Given the description of an element on the screen output the (x, y) to click on. 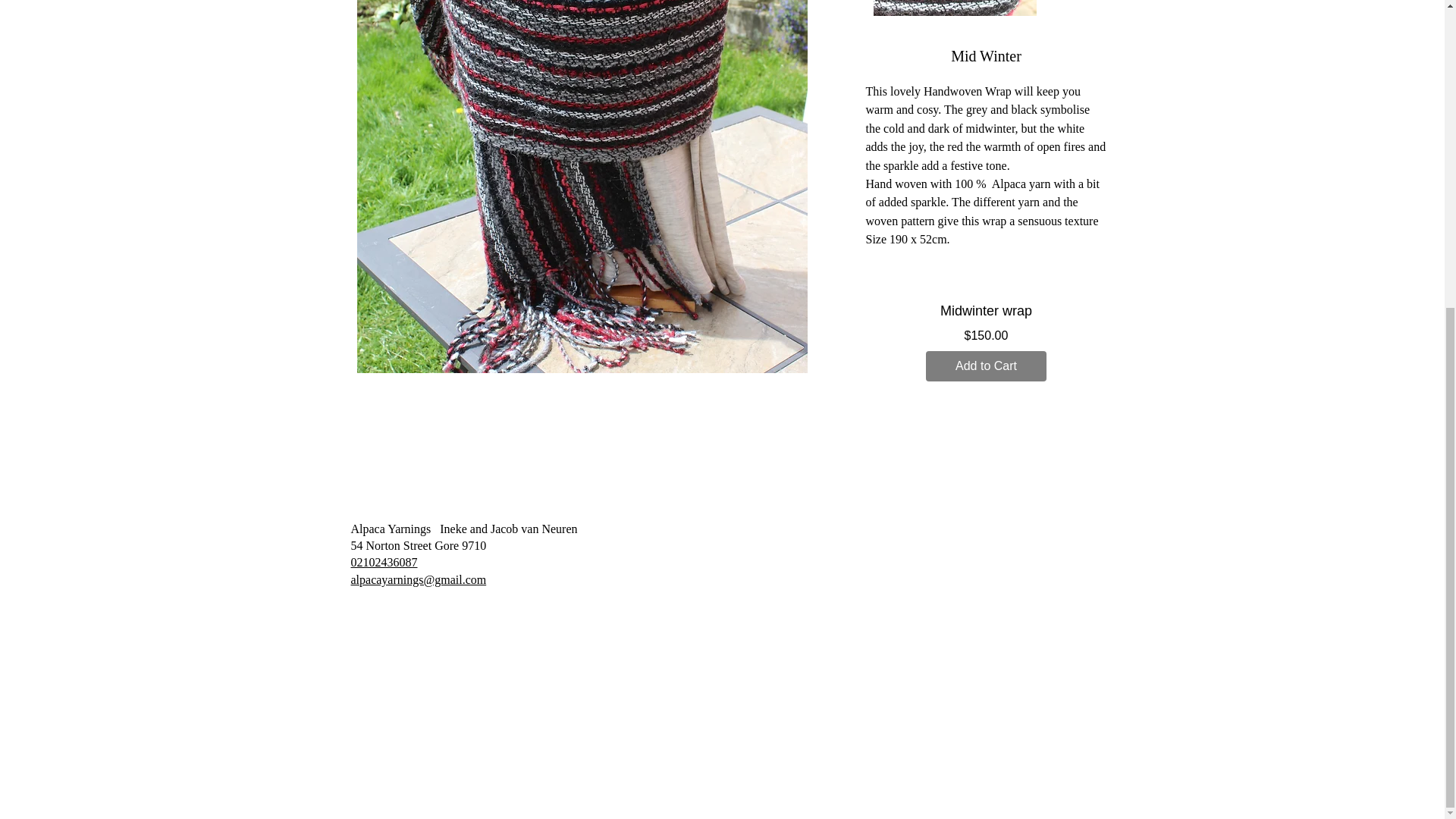
02102436087 (383, 562)
Add to Cart (986, 366)
